Given the description of an element on the screen output the (x, y) to click on. 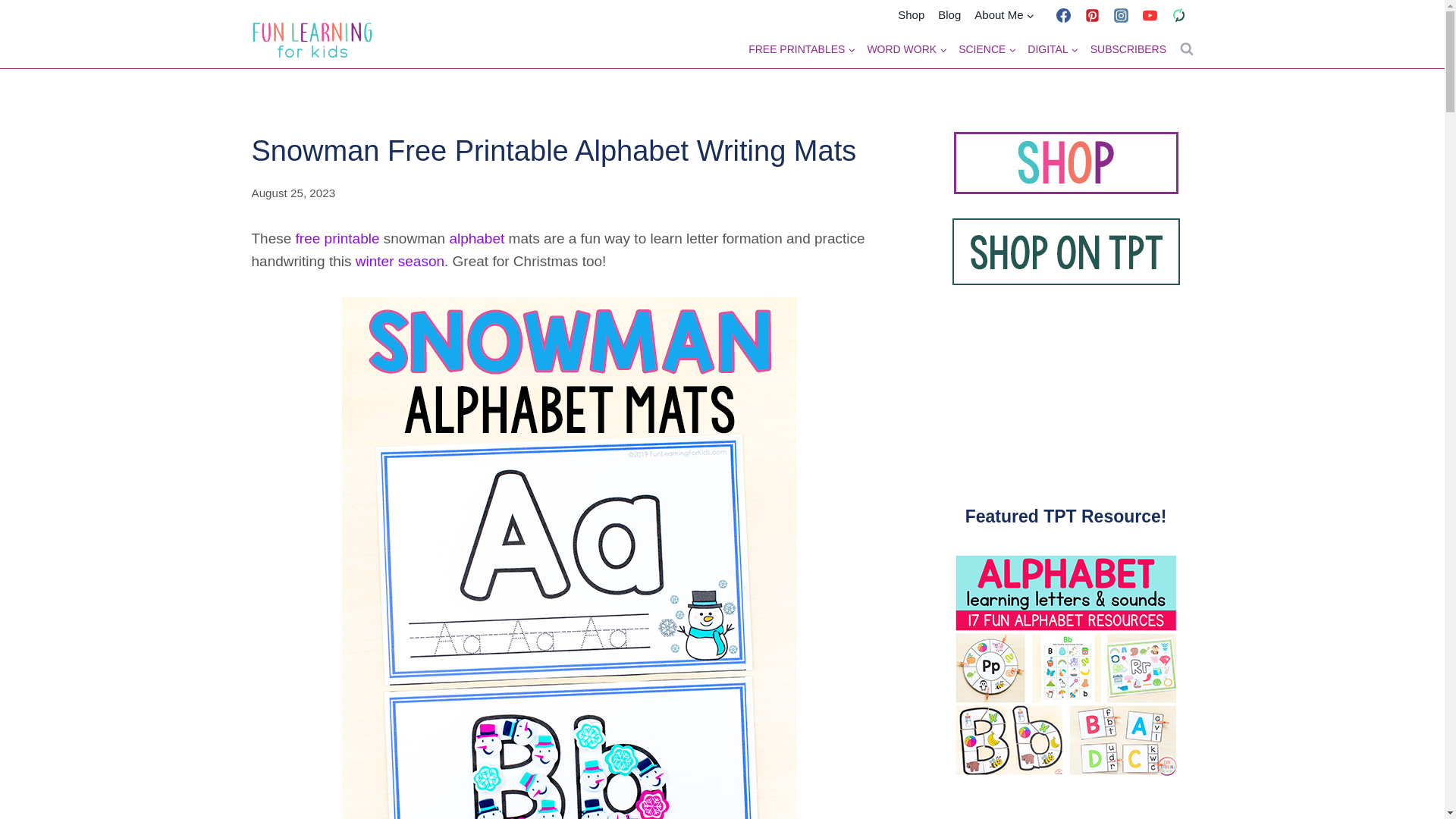
Shop (911, 15)
Blog (949, 15)
FREE PRINTABLES (801, 49)
WORD WORK (907, 49)
About Me (1004, 15)
DIGITAL (1053, 49)
SCIENCE (987, 49)
